Given the description of an element on the screen output the (x, y) to click on. 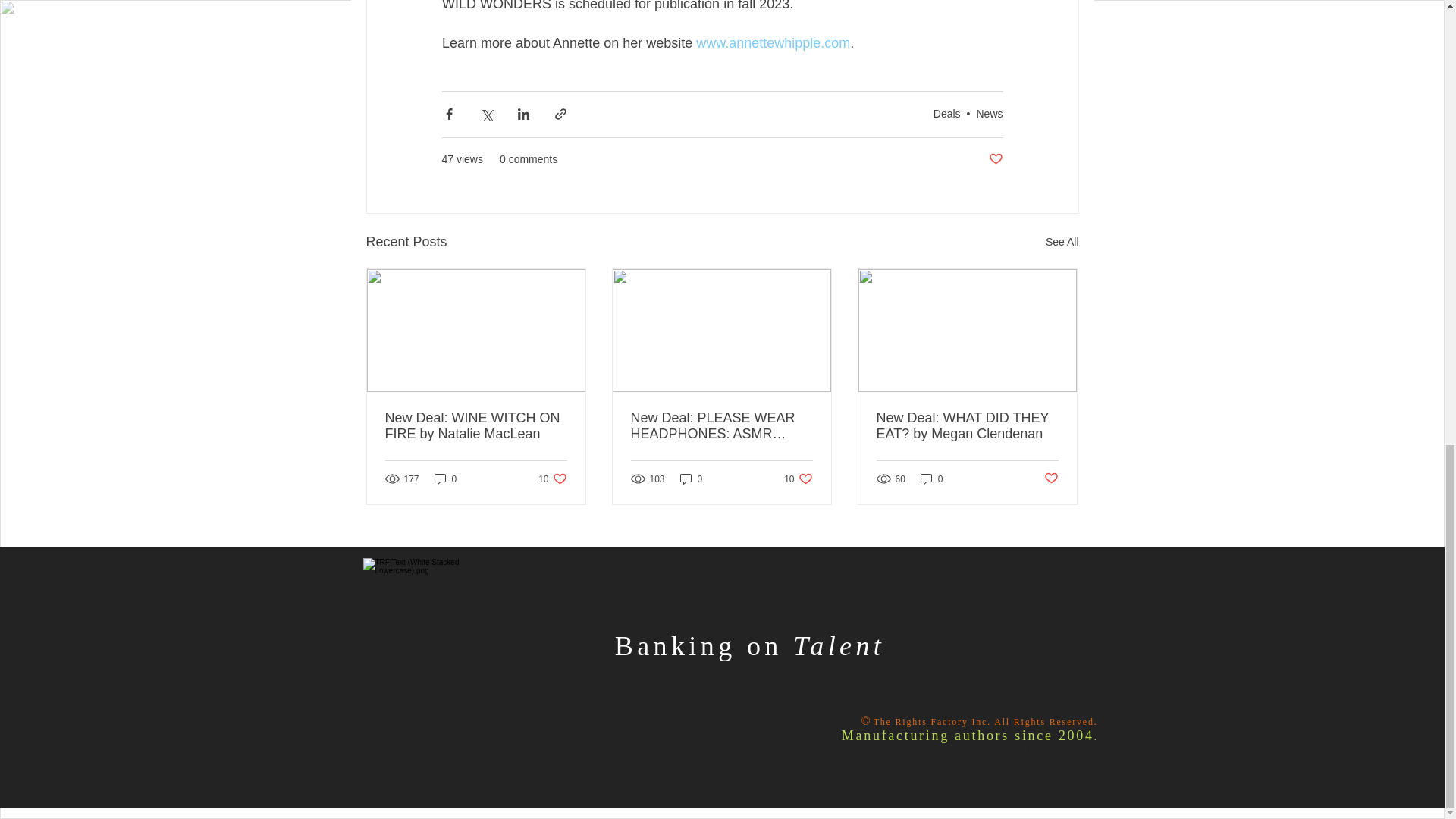
0 (691, 478)
Post not marked as liked (995, 159)
0 (931, 478)
See All (552, 478)
Post not marked as liked (1061, 241)
News (798, 478)
New Deal: WINE WITCH ON FIRE by Natalie MacLean (1050, 478)
www.annettewhipple.com (989, 113)
New Deal: WHAT DID THEY EAT? by Megan Clendenan (476, 426)
0 (772, 43)
Deals (967, 426)
